Given the description of an element on the screen output the (x, y) to click on. 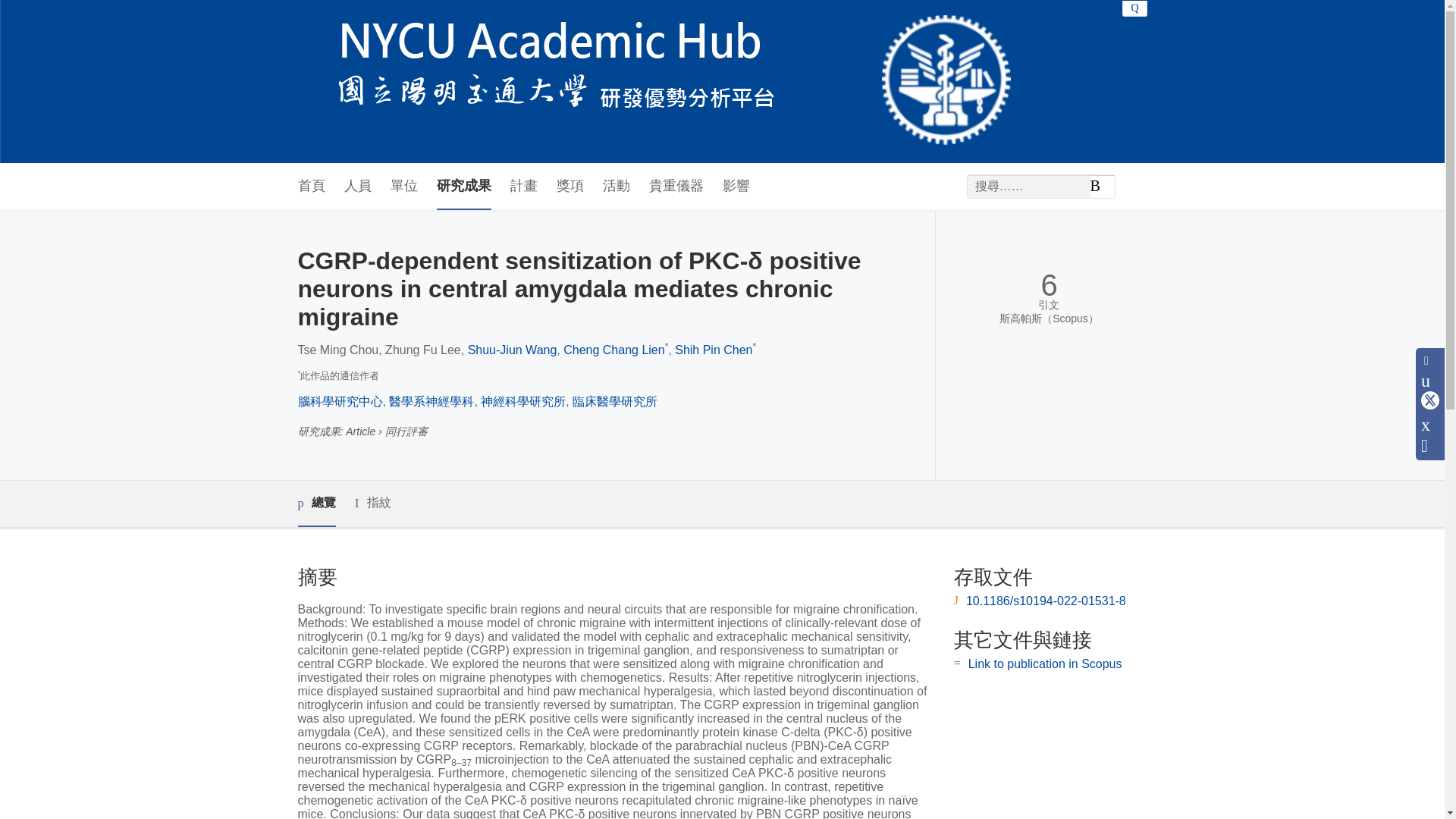
Shih Pin Chen (713, 349)
Link to publication in Scopus (1045, 663)
Shuu-Jiun Wang (512, 349)
Cheng Chang Lien (613, 349)
